Given the description of an element on the screen output the (x, y) to click on. 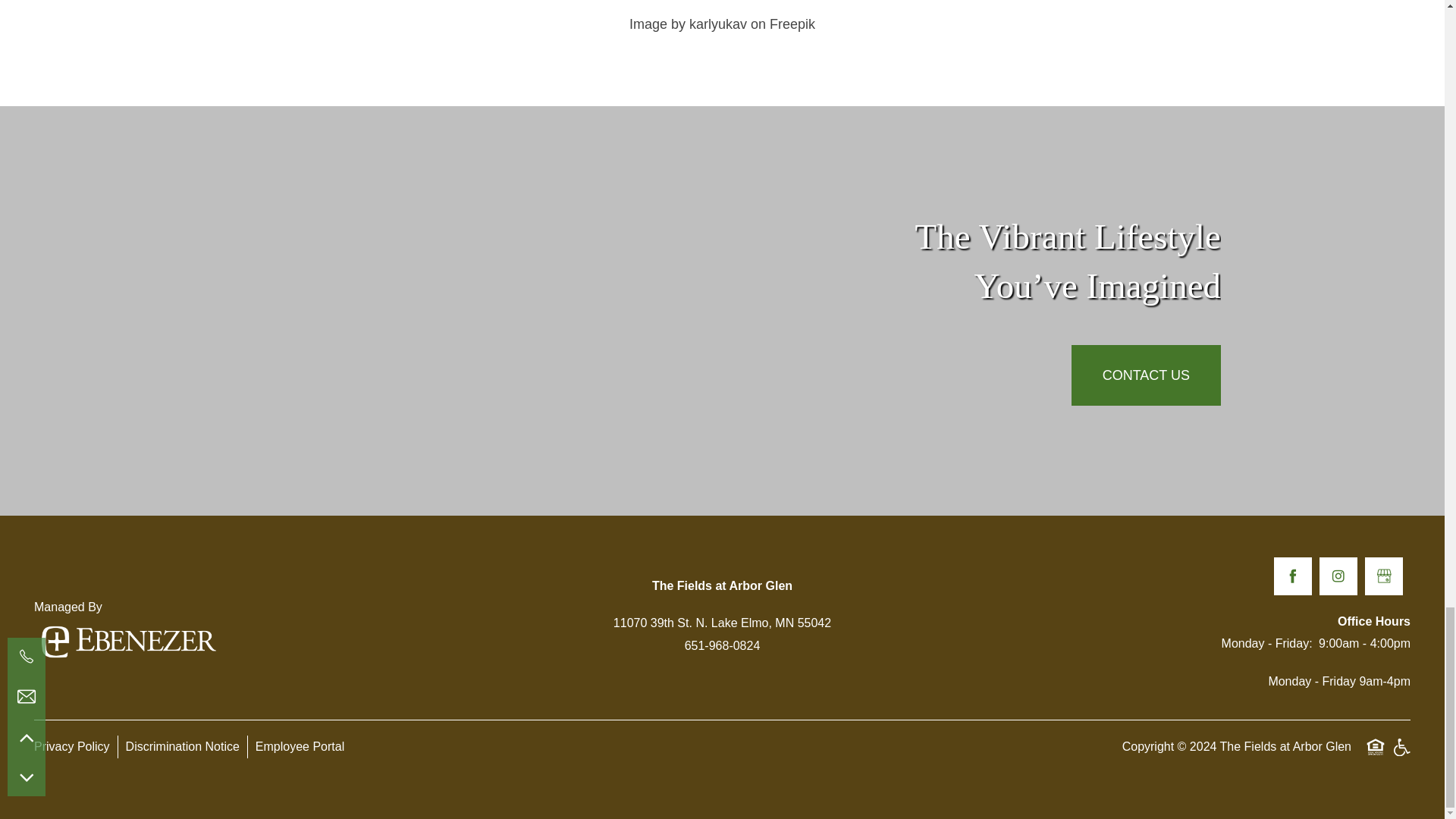
Property Phone Number (722, 645)
Instagram (1337, 576)
CONTACT US (1146, 374)
Google My Business (1384, 576)
651-968-0824 (722, 645)
Facebook (1292, 576)
11070 39th St. N. Lake Elmo, MN 55042 (722, 622)
